Given the description of an element on the screen output the (x, y) to click on. 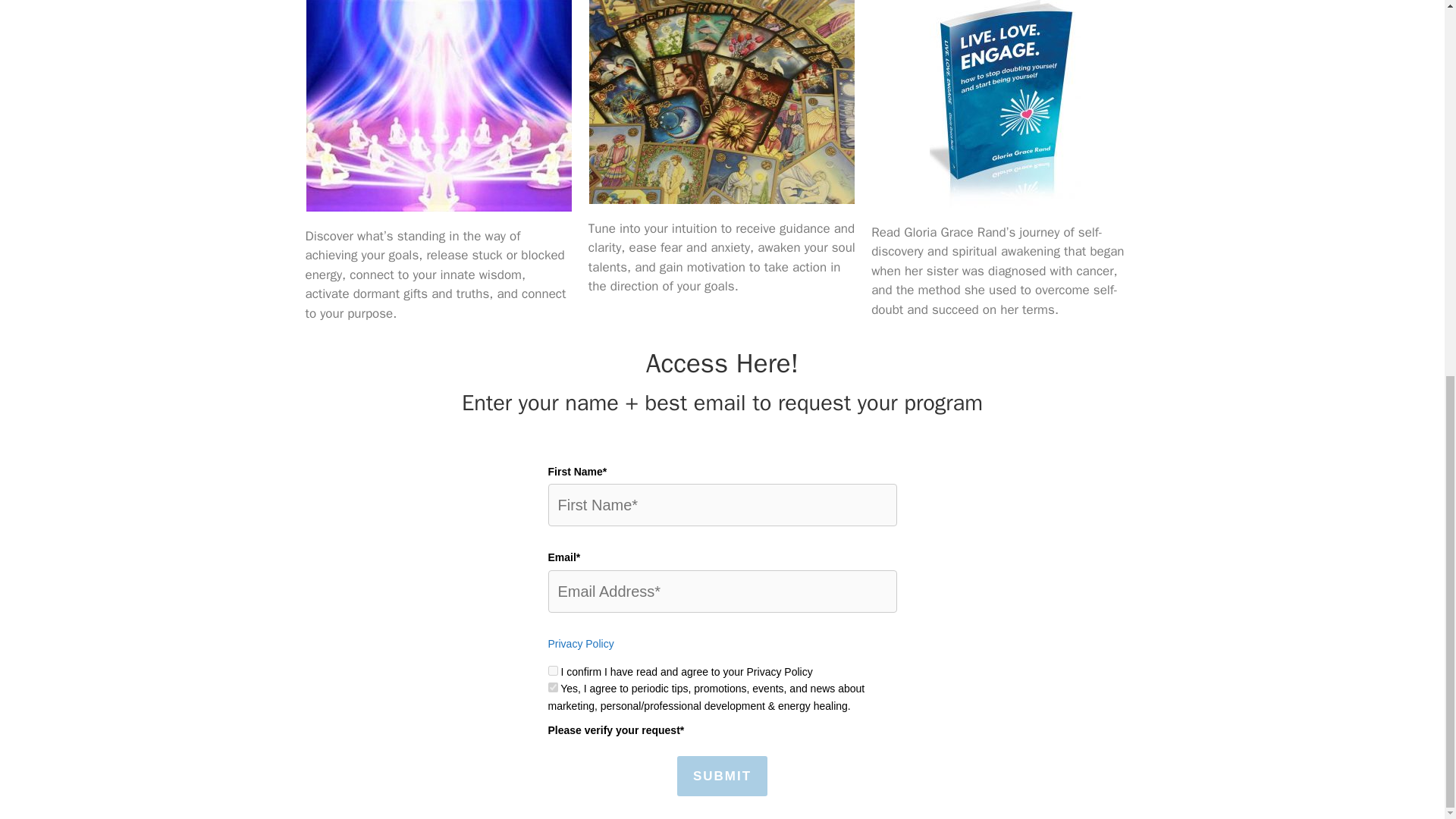
Privacy Policy (579, 644)
I confirm I have read and agree to your Privacy Policy (552, 670)
SUBMIT (722, 775)
